Given the description of an element on the screen output the (x, y) to click on. 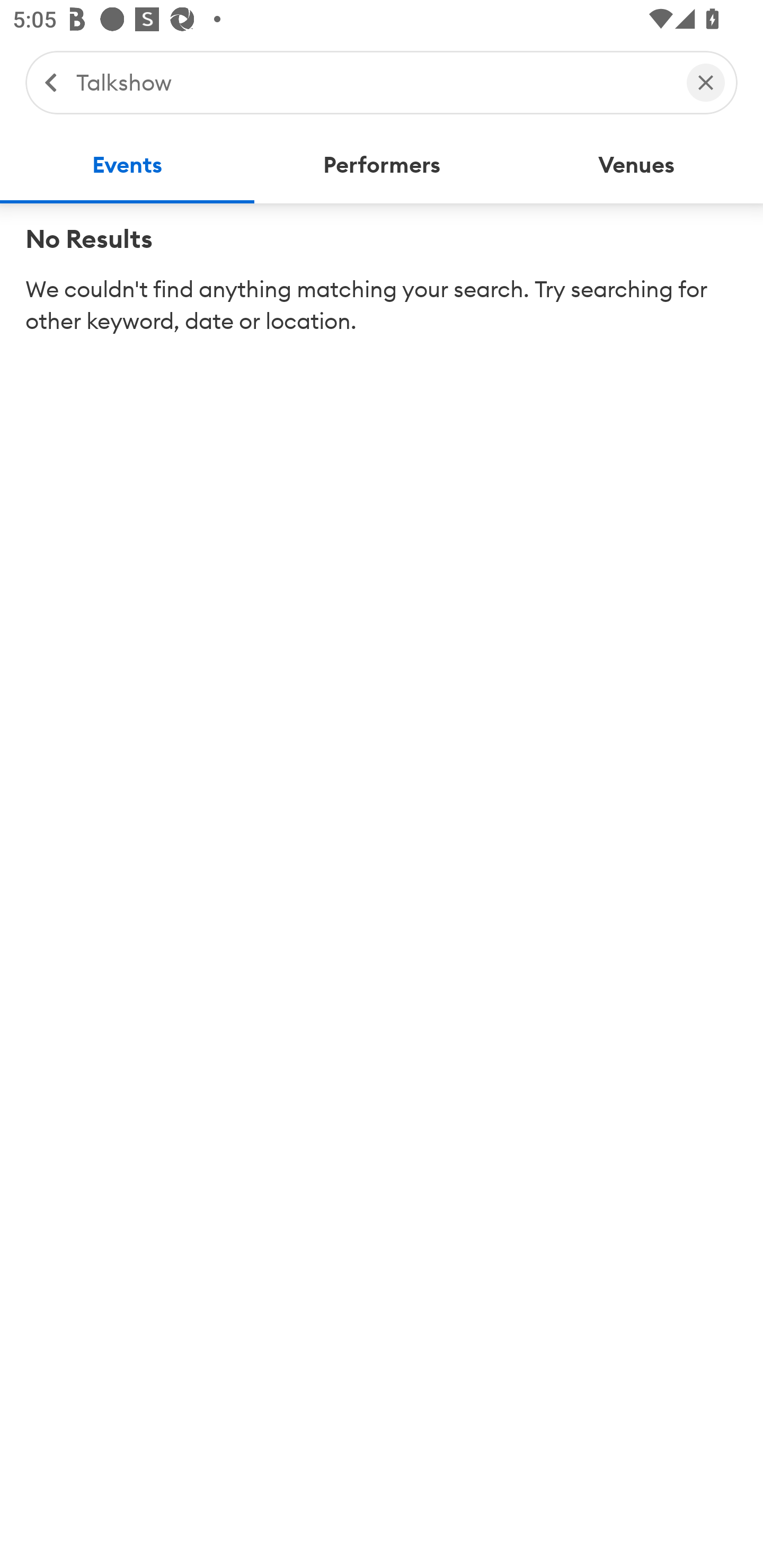
Talkshow (371, 81)
Clear Search (705, 81)
Performers (381, 165)
Venues (635, 165)
